Given the description of an element on the screen output the (x, y) to click on. 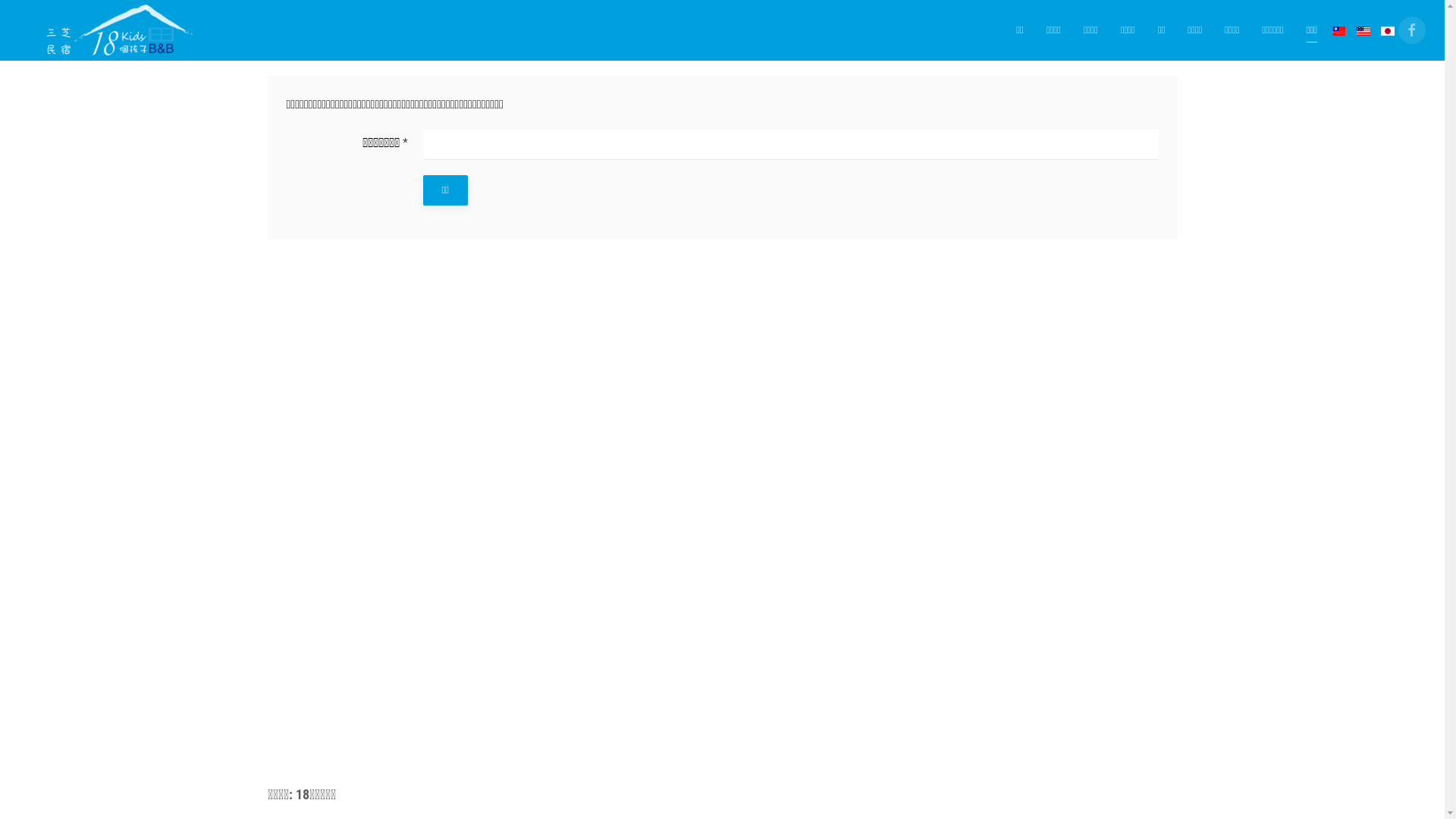
English (USA) Element type: hover (1363, 30)
